Given the description of an element on the screen output the (x, y) to click on. 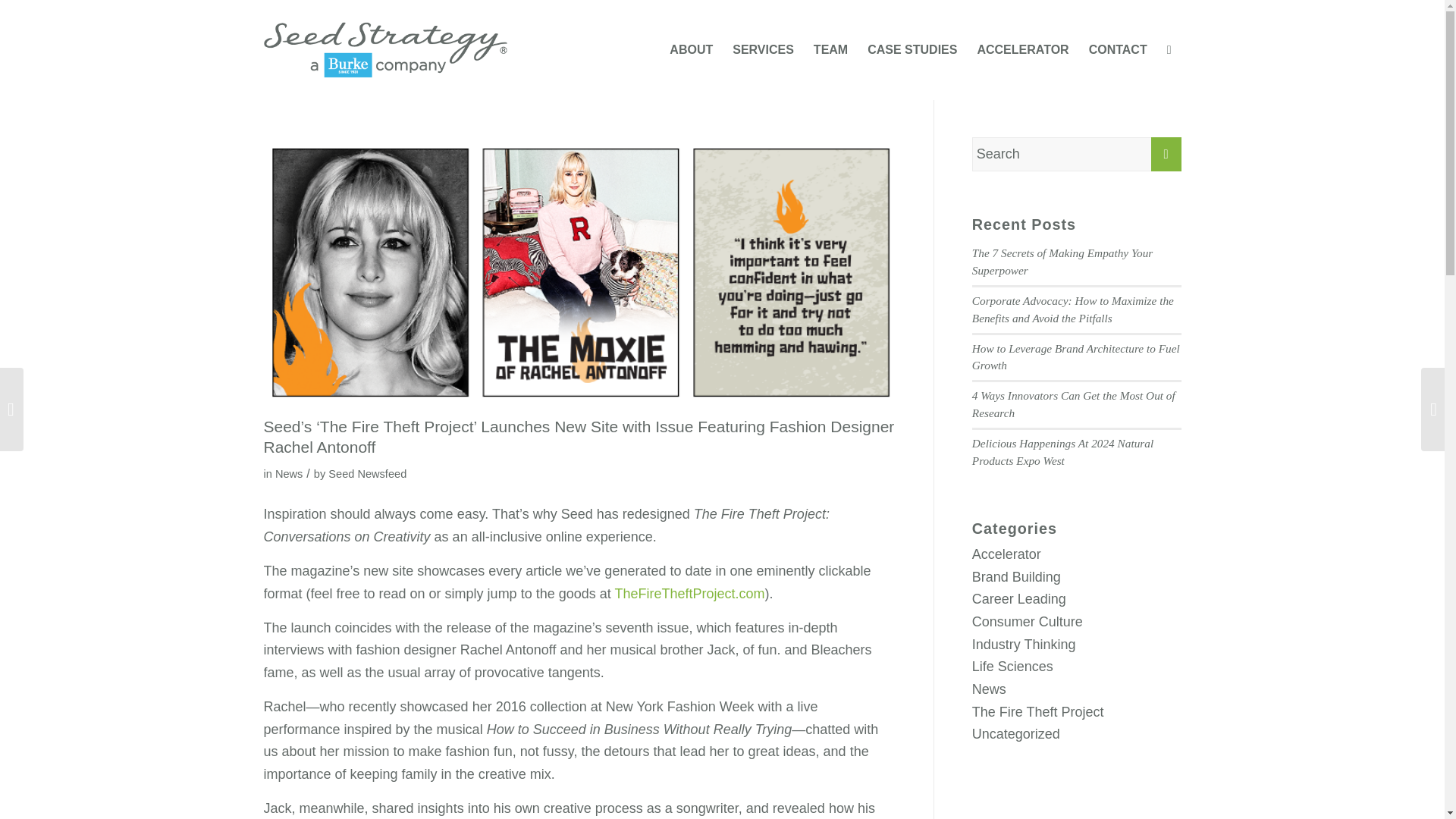
News (288, 473)
Consumer Culture (1027, 621)
How to Leverage Brand Architecture to Fuel Growth (1075, 357)
The Fire Theft Project (1037, 711)
ACCELERATOR (1022, 49)
Career Leading (1018, 598)
News (989, 688)
Delicious Happenings At 2024 Natural Products Expo West (1062, 451)
Industry Thinking (1023, 644)
TheFireTheftProject.com (689, 593)
